Given the description of an element on the screen output the (x, y) to click on. 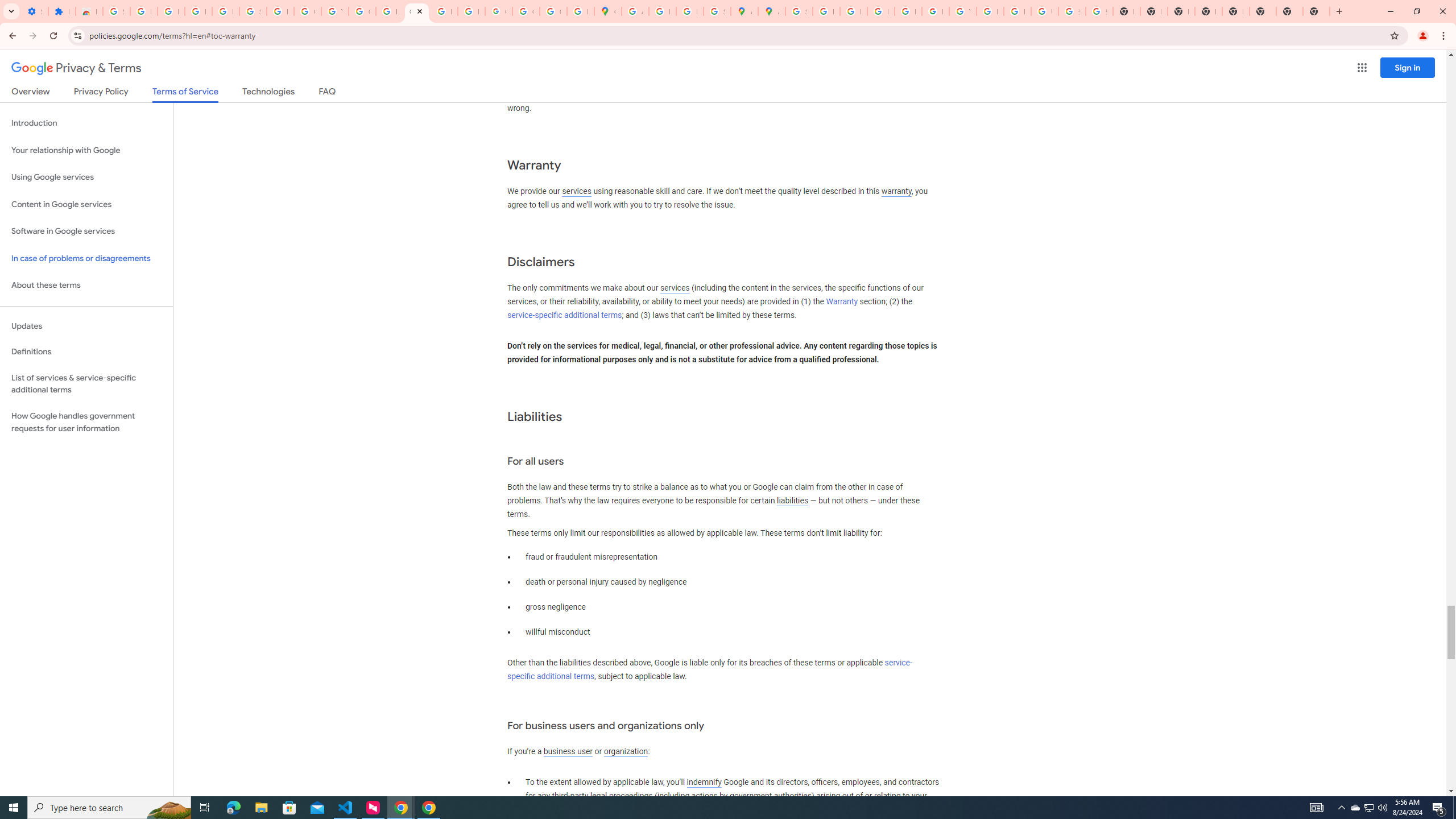
Introduction (86, 122)
Delete photos & videos - Computer - Google Photos Help (170, 11)
Learn how to find your photos - Google Photos Help (197, 11)
In case of problems or disagreements (86, 258)
Software in Google services (86, 230)
